Given the description of an element on the screen output the (x, y) to click on. 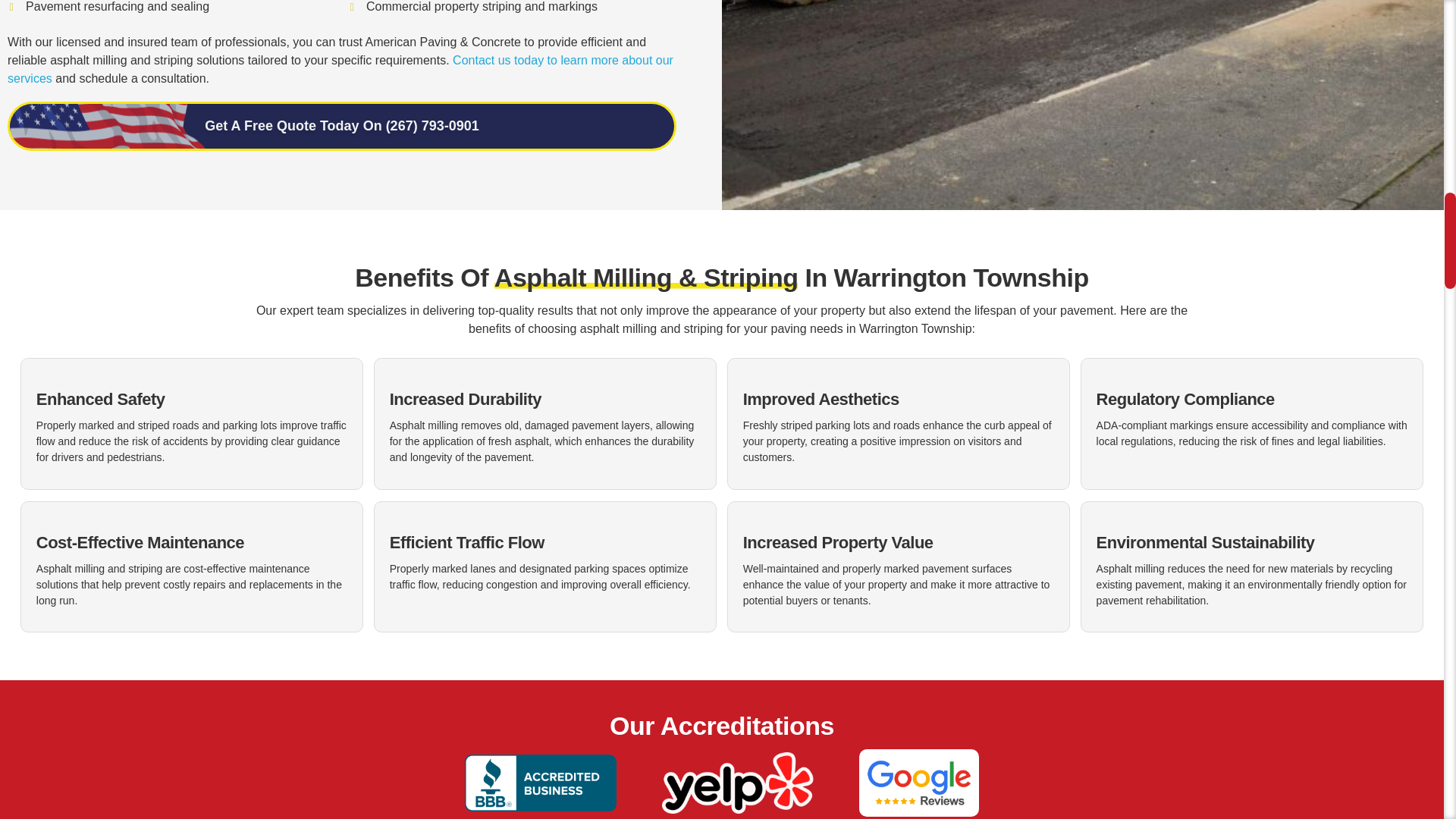
Contact us today to learn more about our services (339, 69)
